Given the description of an element on the screen output the (x, y) to click on. 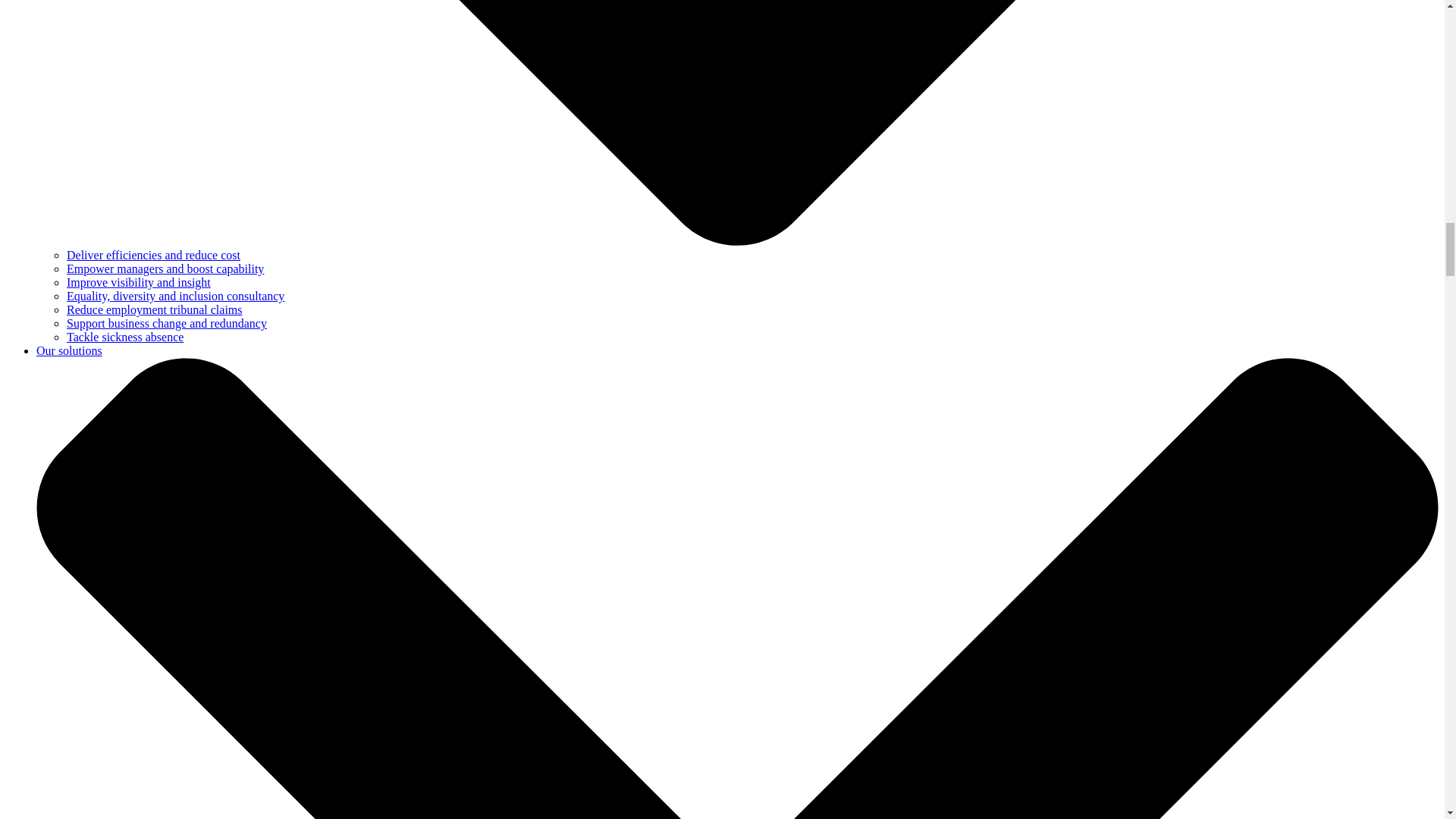
Improve visibility and insight (138, 282)
Equality, diversity and inclusion consultancy (174, 295)
Deliver efficiencies and reduce cost (153, 254)
Tackle sickness absence (124, 336)
Reduce employment tribunal claims (154, 309)
Empower managers and boost capability (164, 268)
Support business change and redundancy (166, 323)
